Given the description of an element on the screen output the (x, y) to click on. 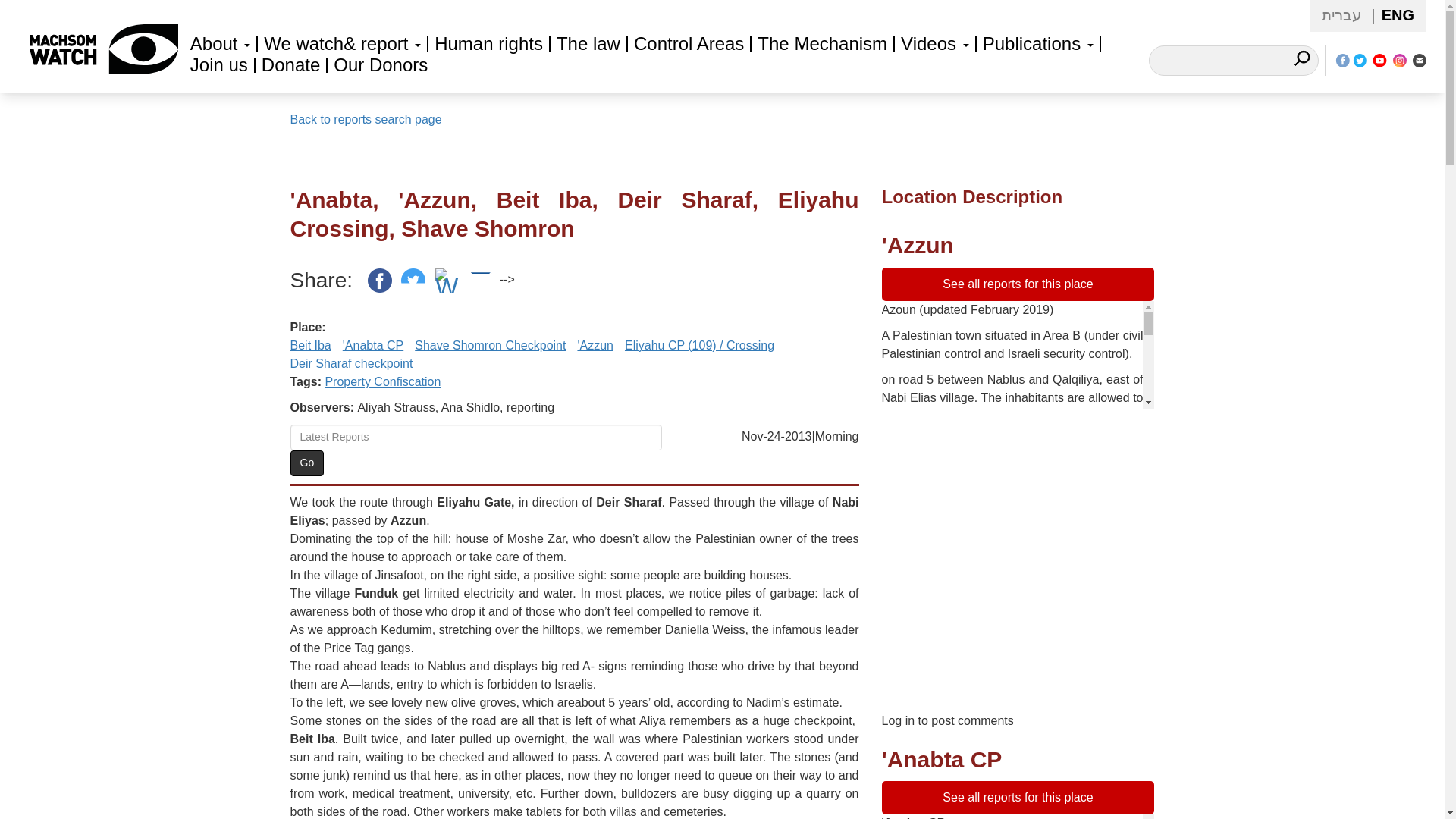
Home (97, 51)
Videos (935, 43)
About (220, 43)
The Mechanism (822, 43)
Our Donors (380, 64)
Beit Iba (309, 345)
Back to reports search page (365, 119)
Publications (1037, 43)
